Given the description of an element on the screen output the (x, y) to click on. 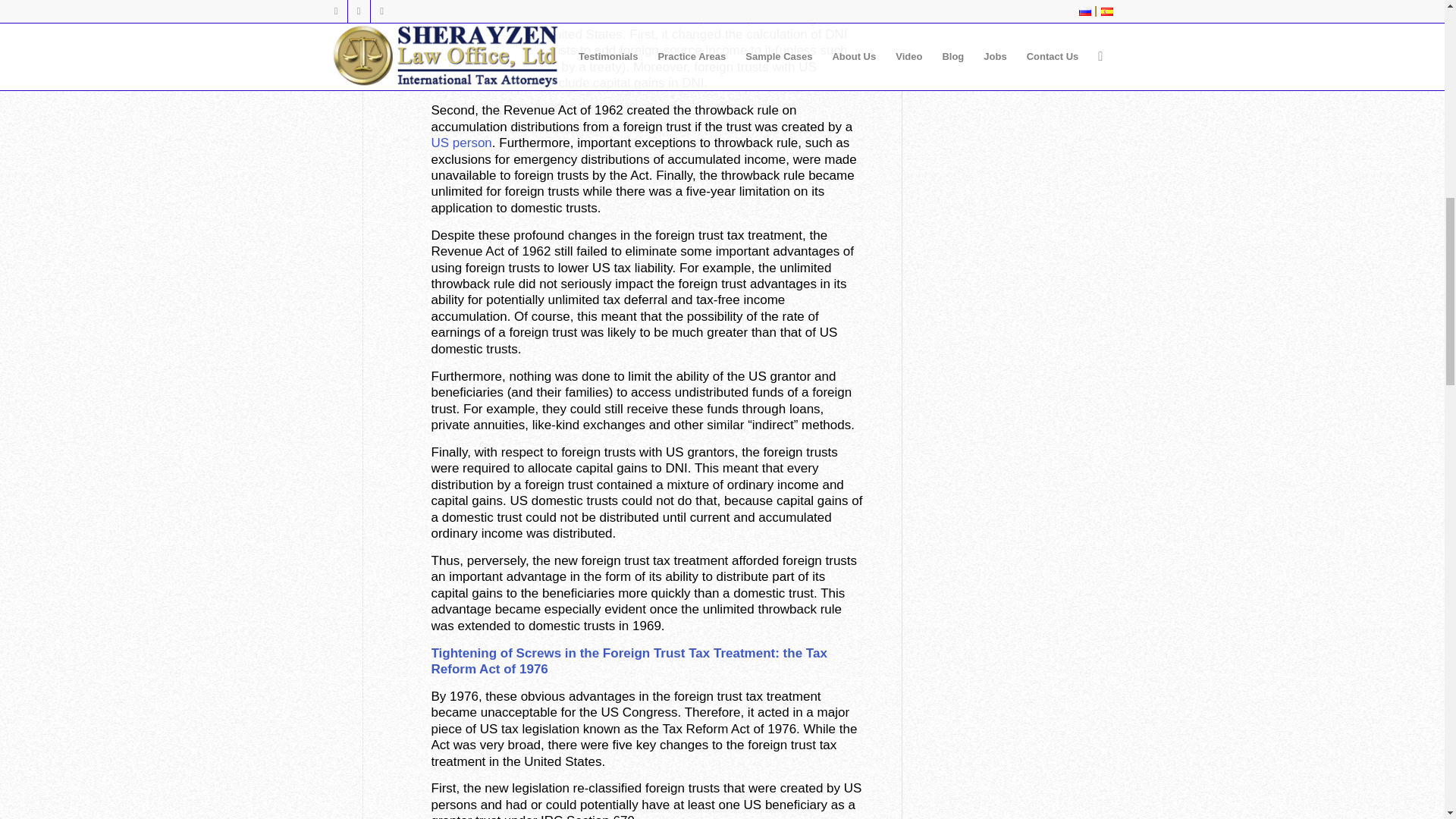
US person (461, 142)
